Given the description of an element on the screen output the (x, y) to click on. 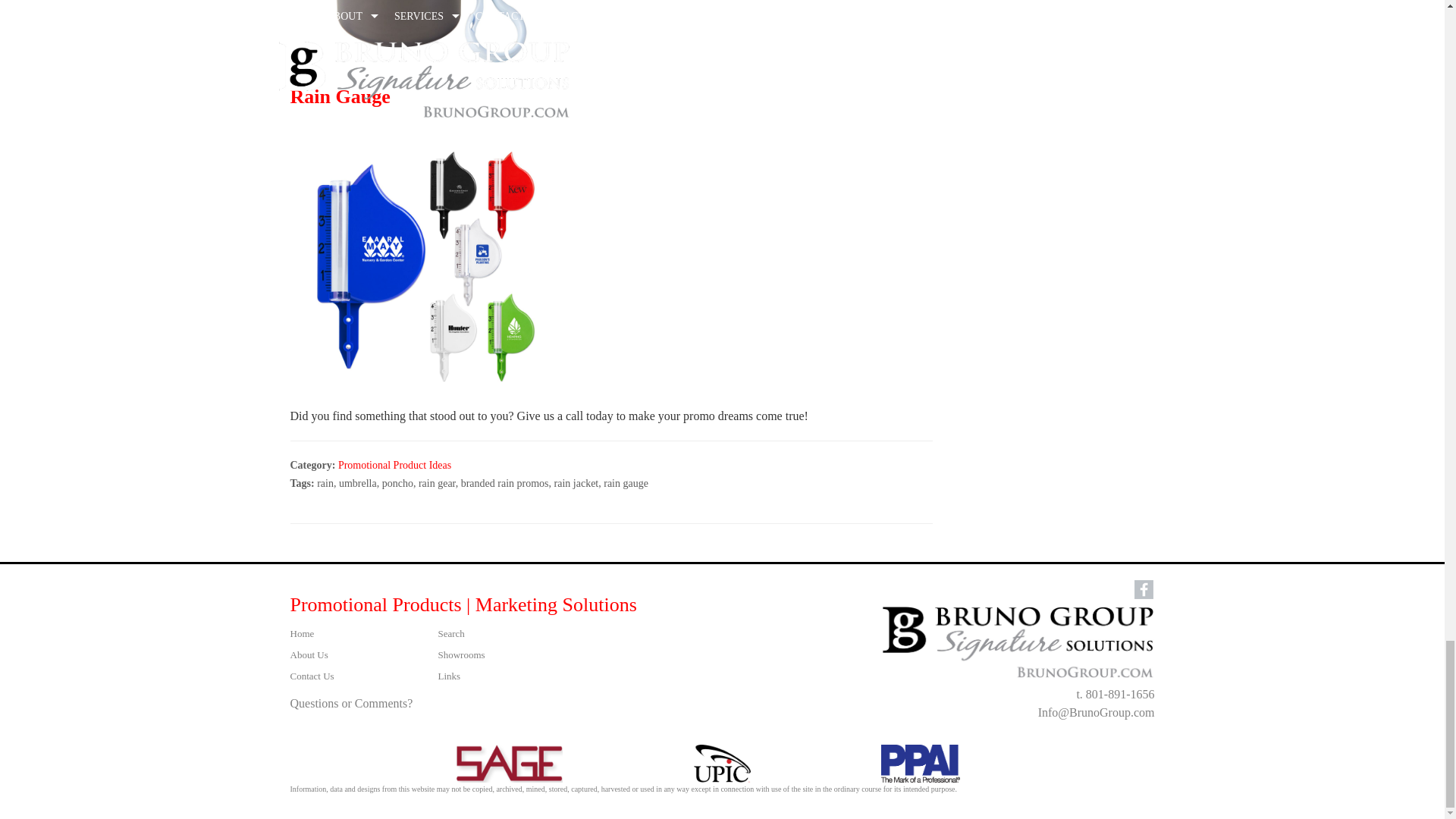
Visit us on Facebook (1143, 587)
